Given the description of an element on the screen output the (x, y) to click on. 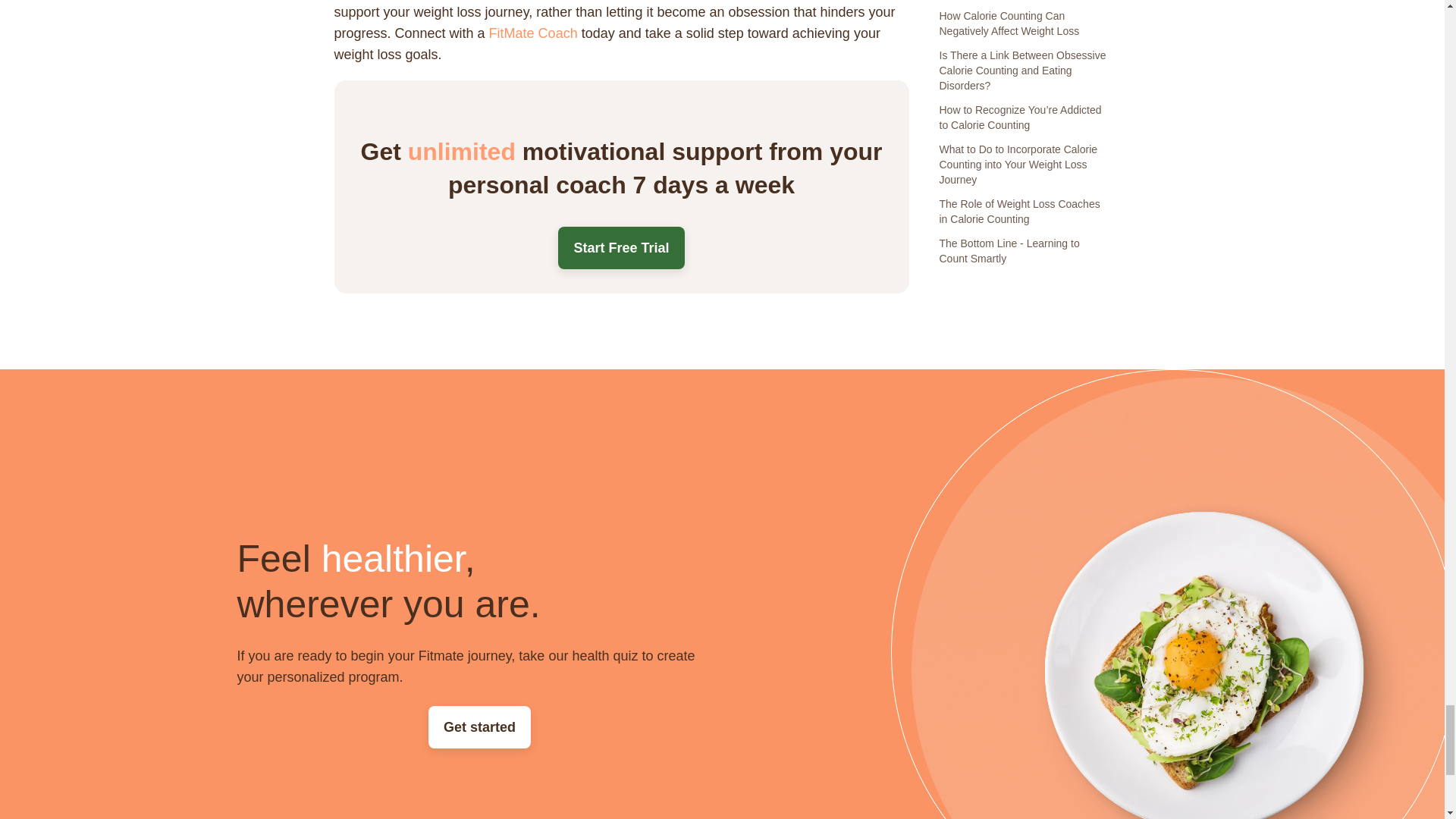
Start Free Trial (620, 247)
FitMate Coach (533, 32)
